Given the description of an element on the screen output the (x, y) to click on. 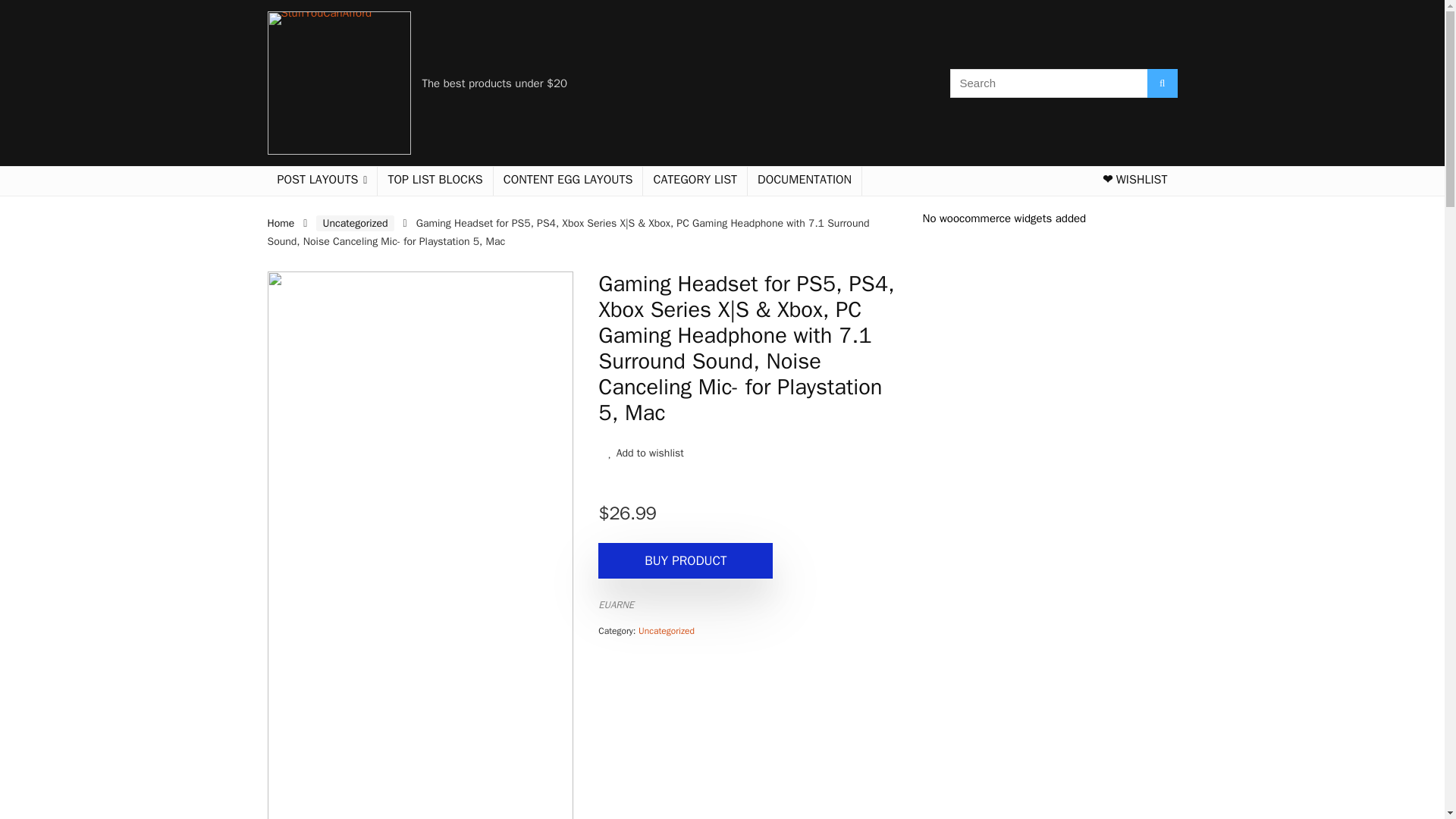
Home (280, 223)
CATEGORY LIST (694, 181)
POST LAYOUTS (321, 181)
EUARNE (615, 604)
CONTENT EGG LAYOUTS (568, 181)
TOP LIST BLOCKS (434, 181)
Uncategorized (354, 222)
Uncategorized (666, 630)
BUY PRODUCT (685, 560)
DOCUMENTATION (804, 181)
